Given the description of an element on the screen output the (x, y) to click on. 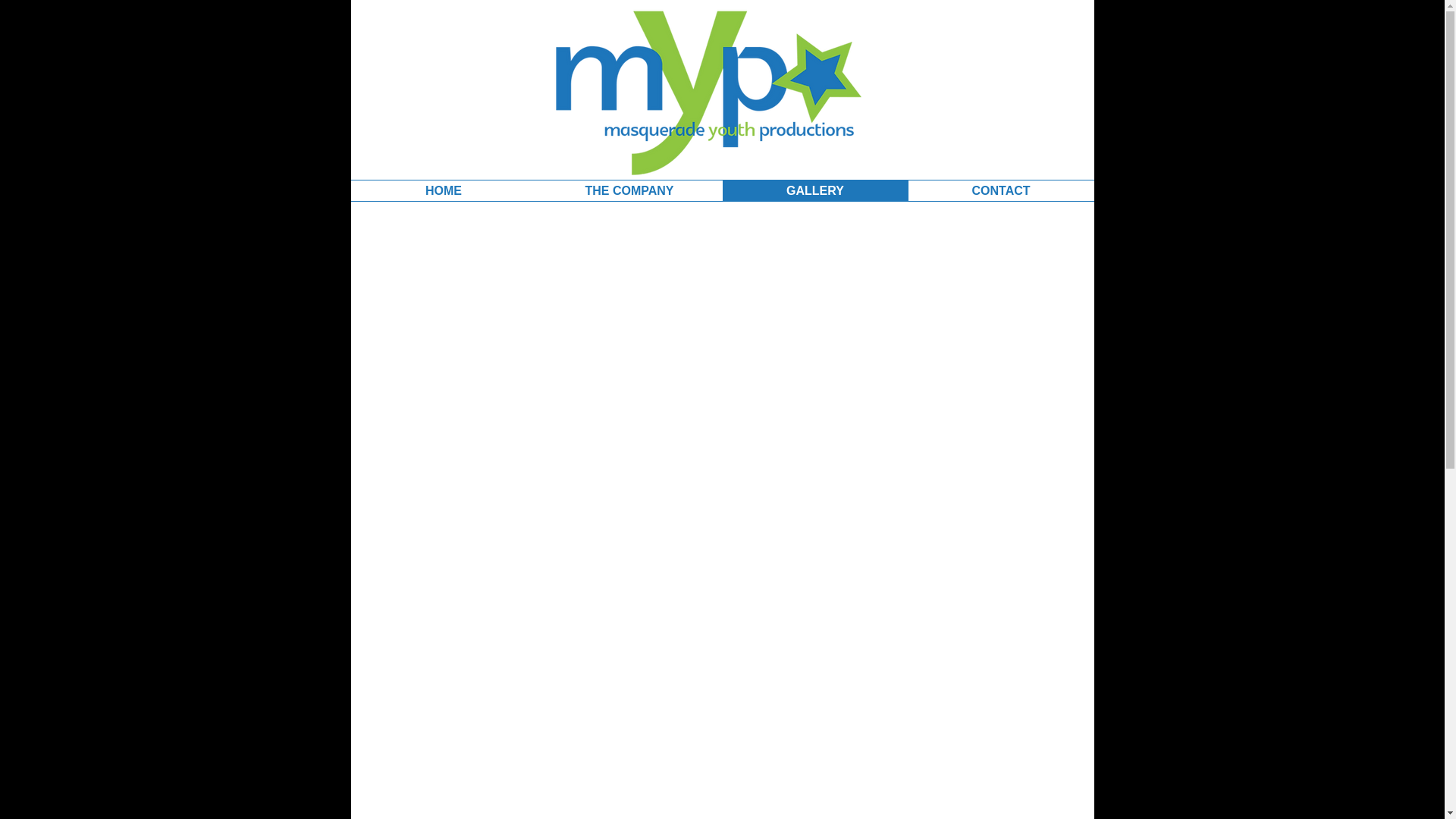
HOME Element type: text (443, 190)
GALLERY Element type: text (814, 190)
CONTACT Element type: text (1001, 190)
THE COMPANY Element type: text (629, 190)
